Given the description of an element on the screen output the (x, y) to click on. 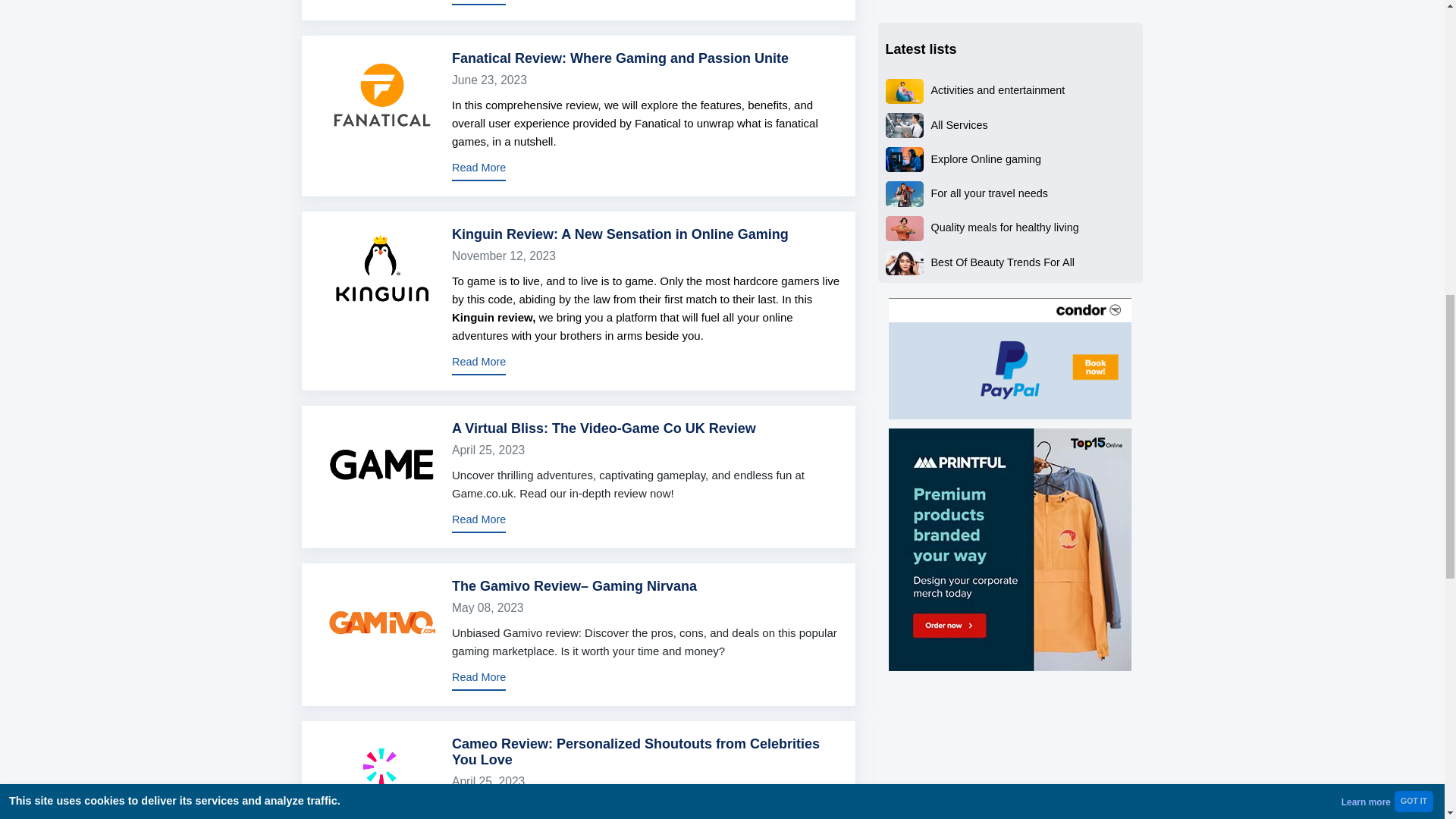
Publish time (645, 255)
Publish time (645, 449)
Publish time (645, 781)
Read More (478, 2)
Publish time (645, 607)
Fanatical Review: Where Gaming and Passion Unite (620, 58)
Kinguin Review: A New Sensation in Online Gaming (620, 233)
Read More (478, 169)
Publish time (645, 79)
